Given the description of an element on the screen output the (x, y) to click on. 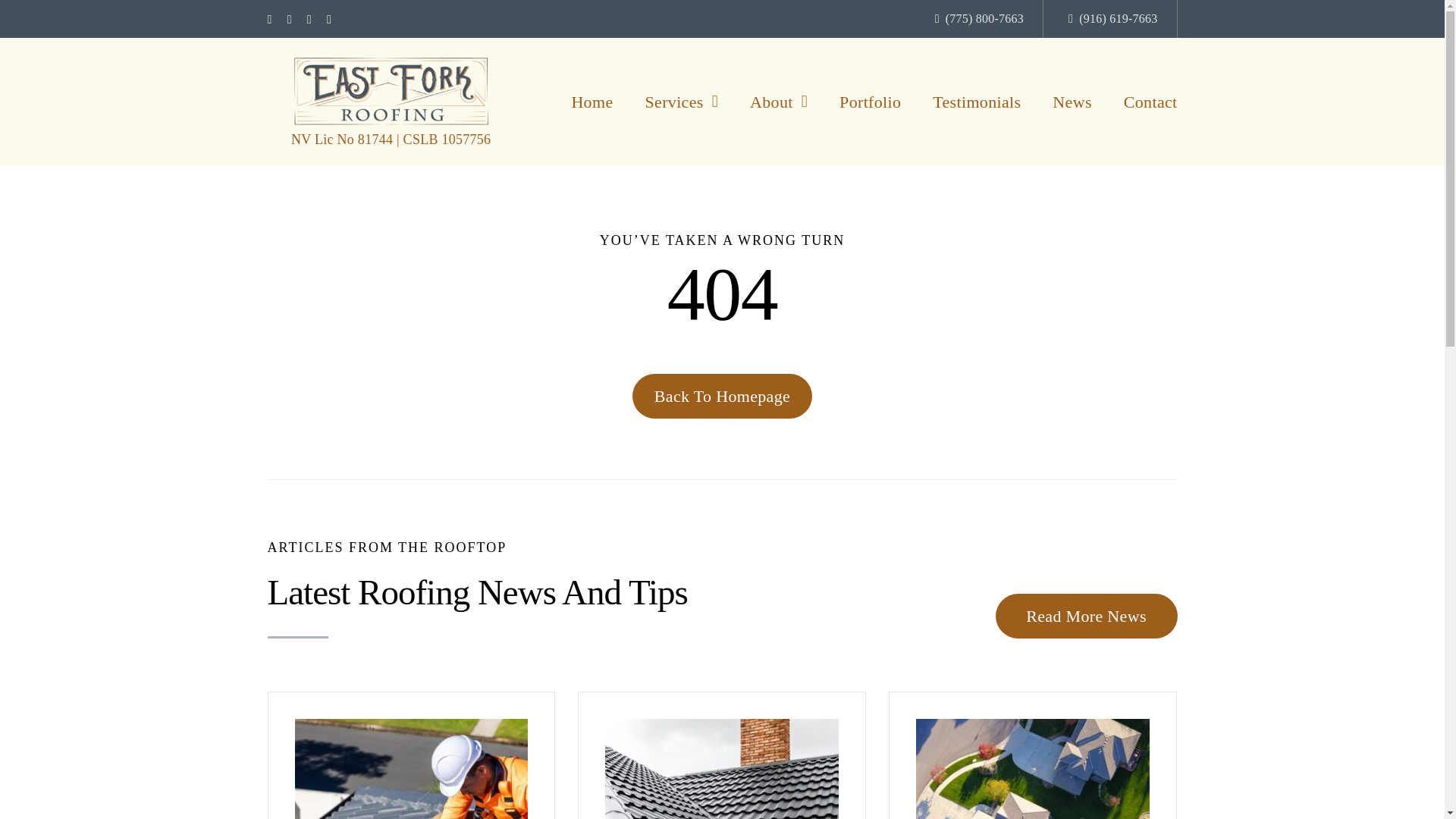
Contact (1150, 101)
Testimonials (976, 101)
Back To Homepage (721, 395)
Home (591, 101)
About (778, 101)
News (1071, 101)
Services (681, 101)
Read More News (1085, 615)
Portfolio (870, 101)
